Given the description of an element on the screen output the (x, y) to click on. 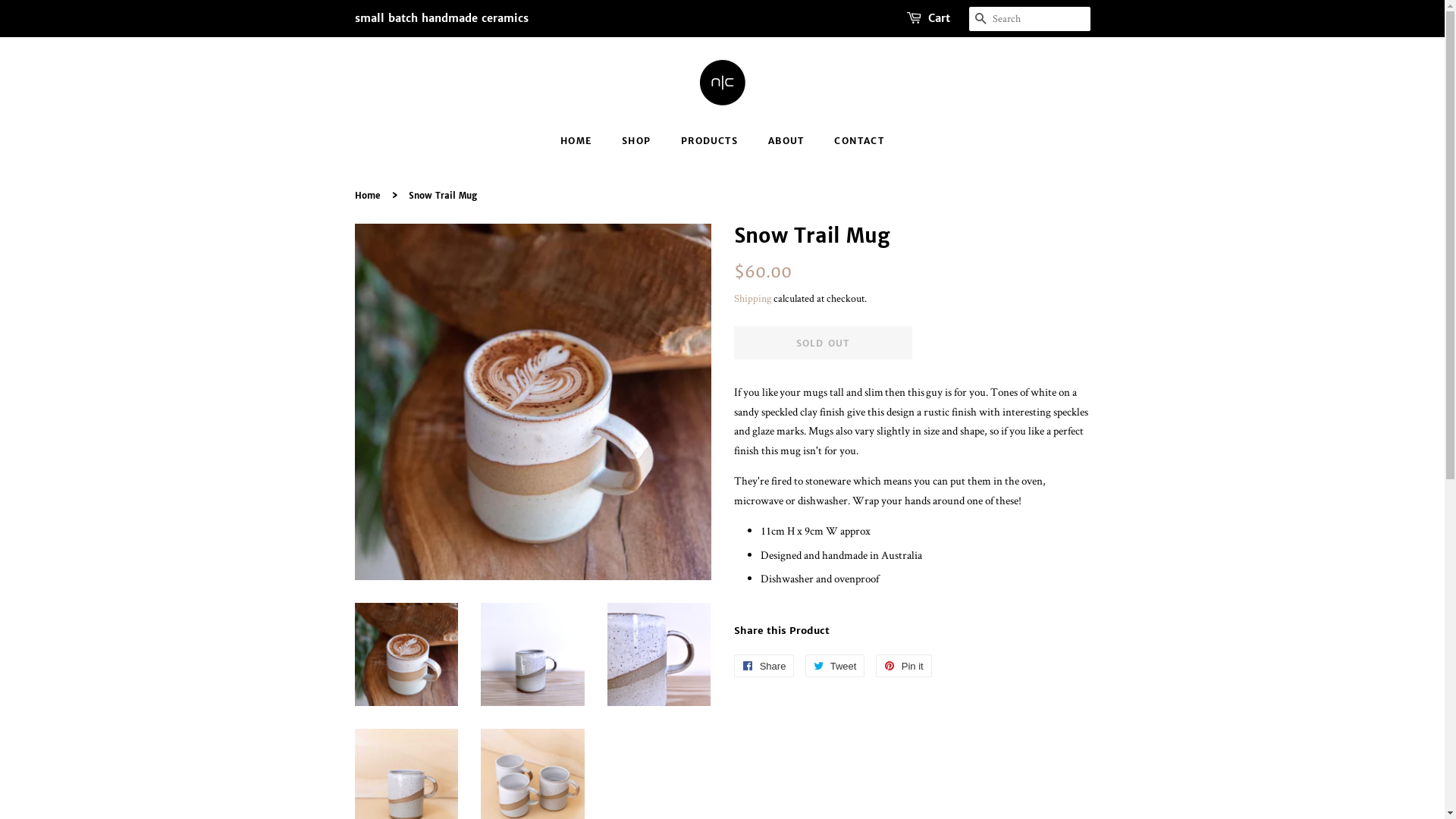
Tweet
Tweet on Twitter Element type: text (835, 665)
Cart Element type: text (939, 18)
SEARCH Element type: text (981, 18)
Home Element type: text (369, 195)
SHOP Element type: text (637, 140)
PRODUCTS Element type: text (711, 140)
Pin it
Pin on Pinterest Element type: text (903, 665)
ABOUT Element type: text (787, 140)
HOME Element type: text (583, 140)
Share
Share on Facebook Element type: text (764, 665)
CONTACT Element type: text (852, 140)
SOLD OUT Element type: text (823, 342)
Shipping Element type: text (752, 297)
